Given the description of an element on the screen output the (x, y) to click on. 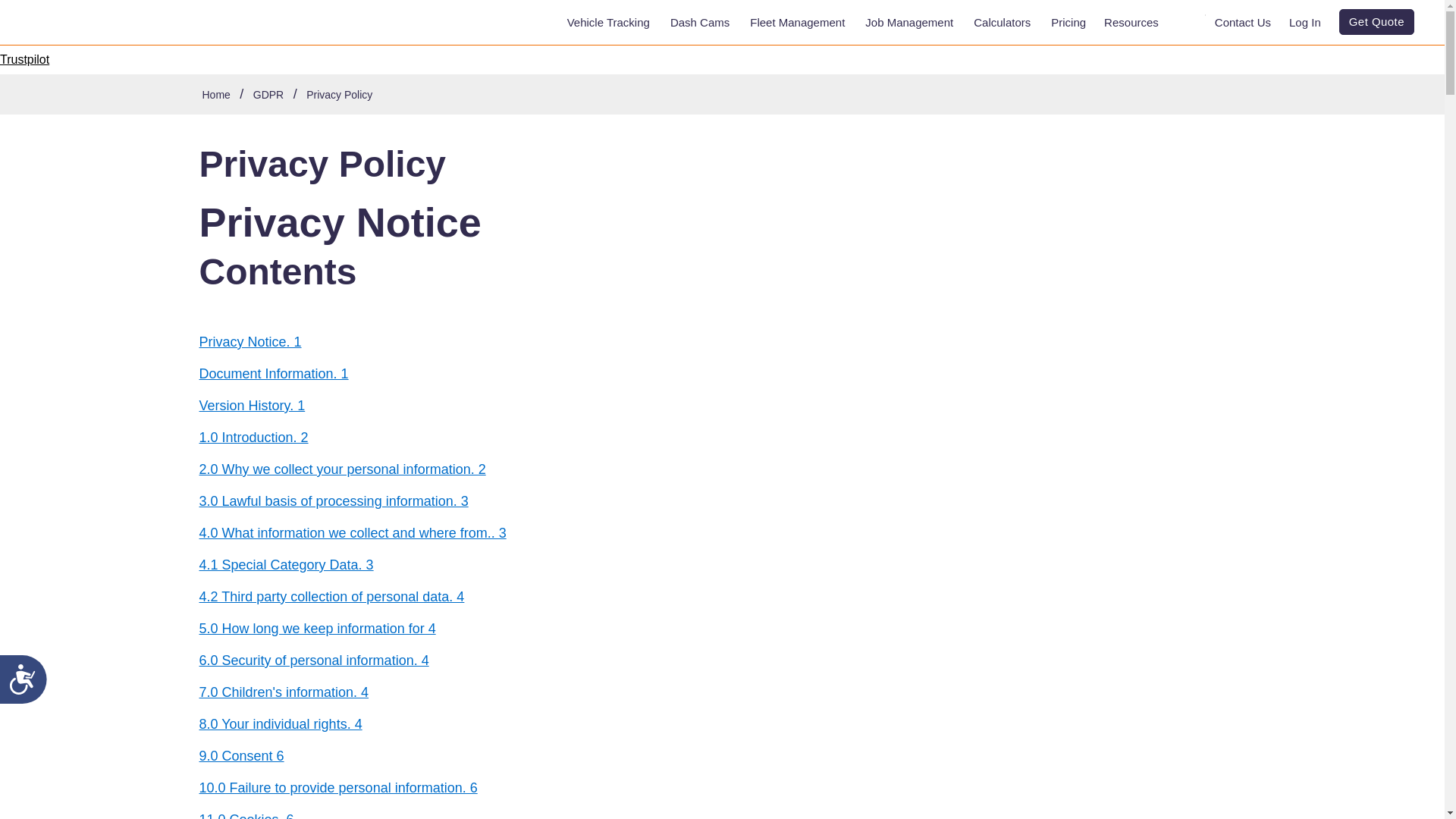
Accessibility (29, 685)
Dash Cams (701, 22)
Vehicle Tracking (609, 22)
Fleet Management (798, 22)
